Given the description of an element on the screen output the (x, y) to click on. 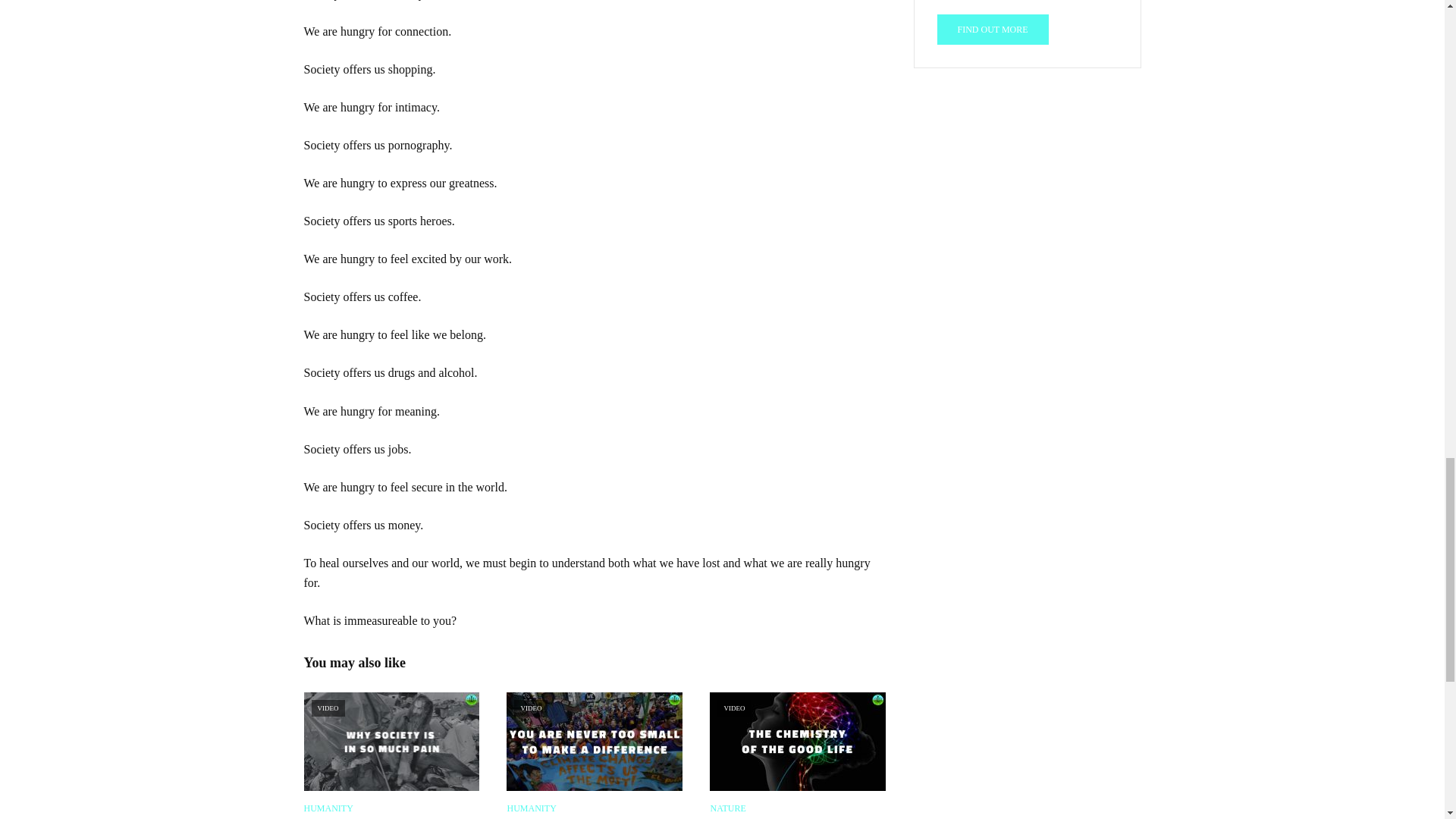
You Are Never Too Small To Make A Difference (594, 741)
The Chemistry Of The Good Life (797, 741)
Why Society Is In So Much Pain (390, 741)
